Given the description of an element on the screen output the (x, y) to click on. 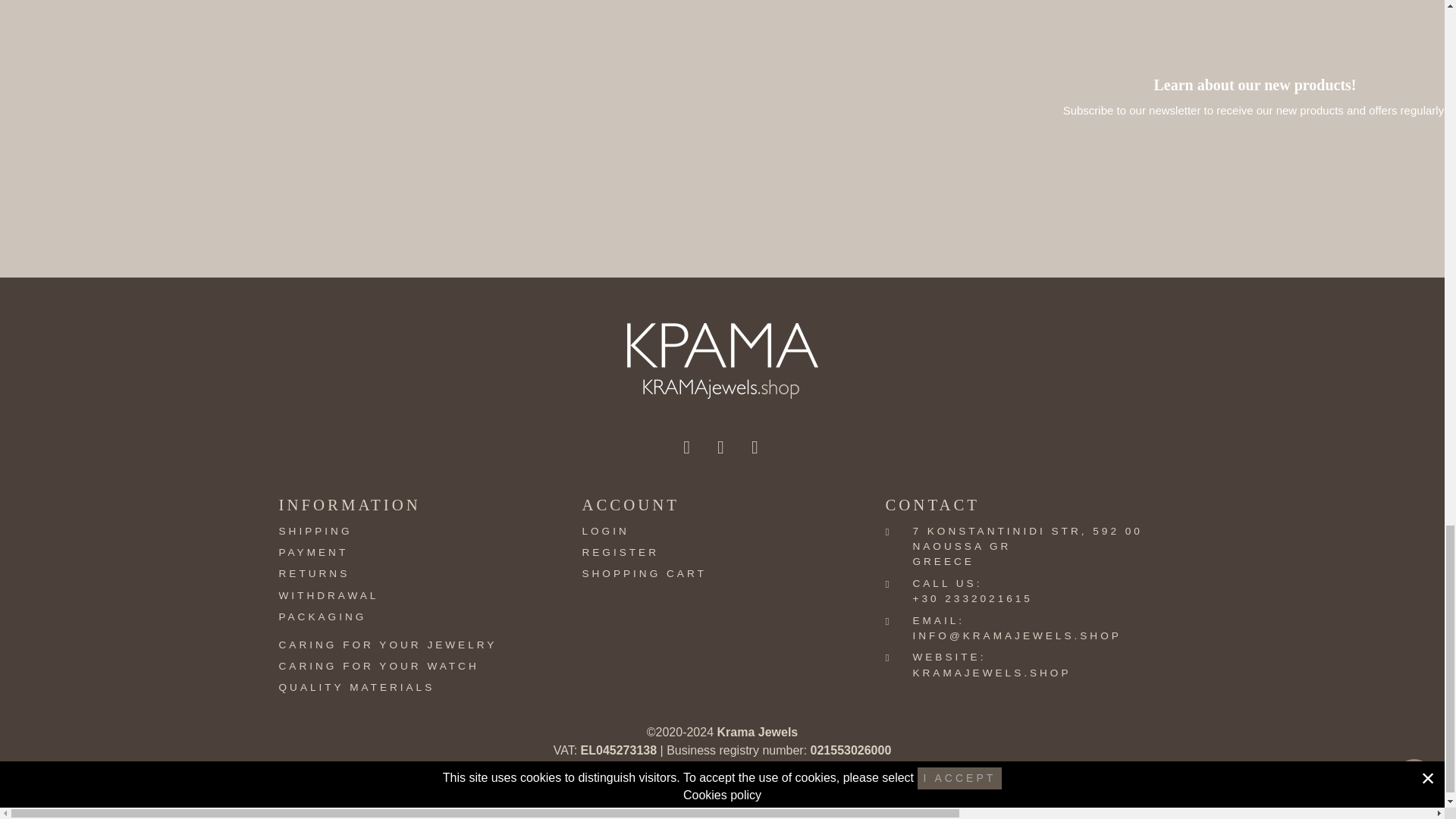
Facebook (687, 447)
Instagram (721, 447)
